Given the description of an element on the screen output the (x, y) to click on. 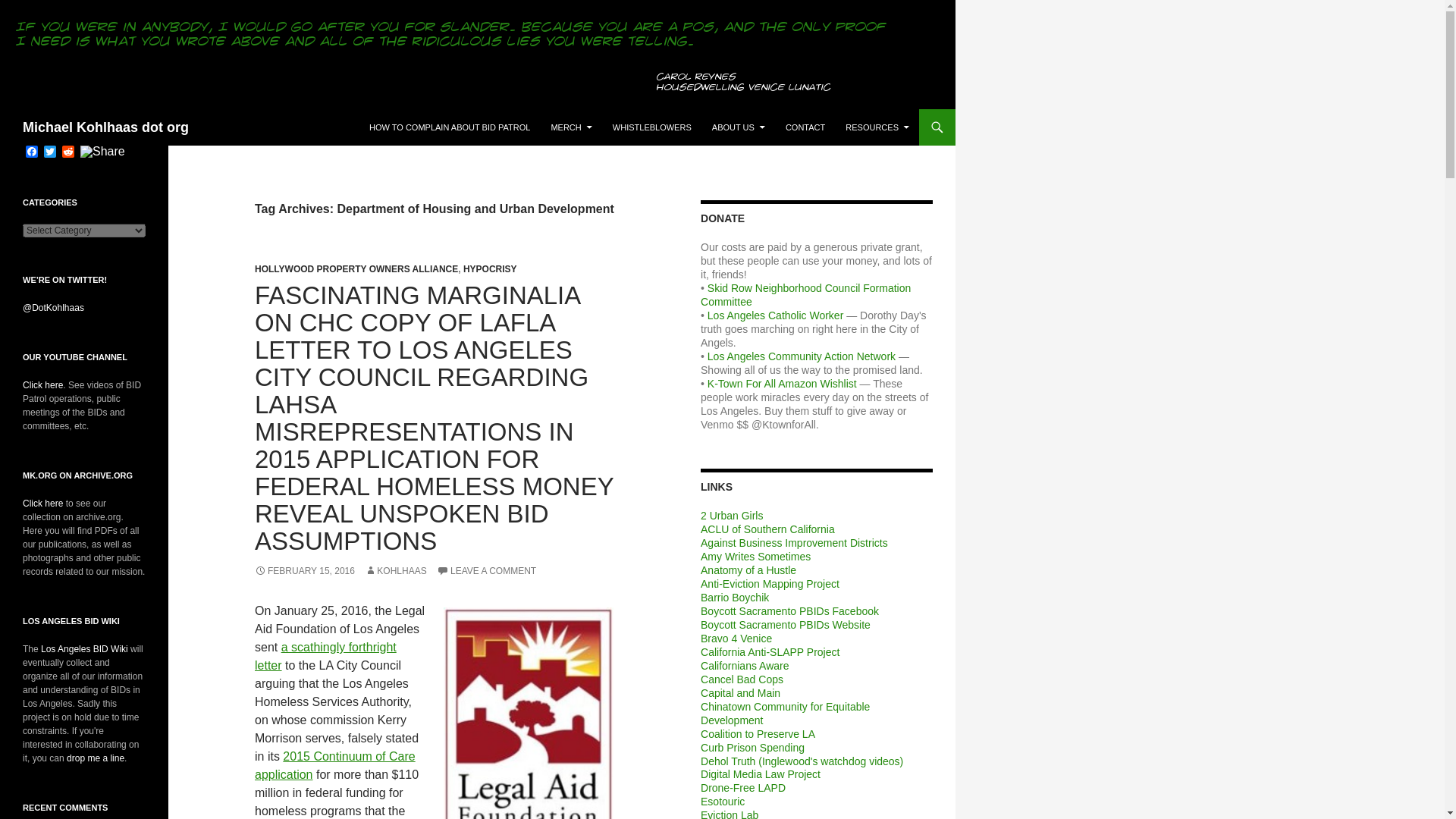
Michael Kohlhaas dot org (106, 126)
LEAVE A COMMENT (485, 570)
a scathingly forthright letter (325, 655)
Reddit (68, 152)
WHISTLEBLOWERS (652, 126)
2015 Continuum of Care application (334, 765)
Facebook (31, 152)
Twitter (49, 152)
ABOUT US (738, 126)
